Given the description of an element on the screen output the (x, y) to click on. 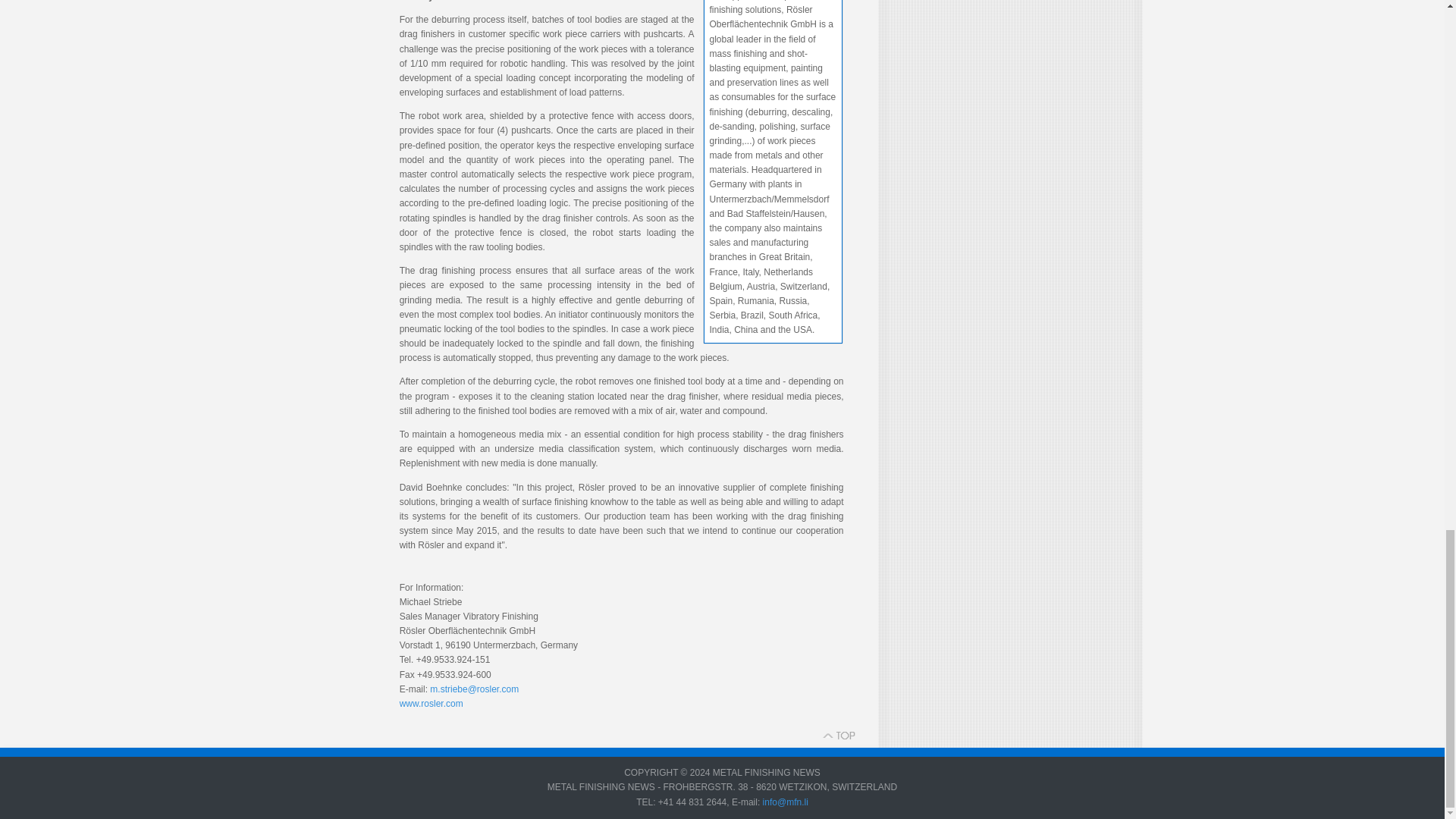
www.rosler.com (430, 703)
